Given the description of an element on the screen output the (x, y) to click on. 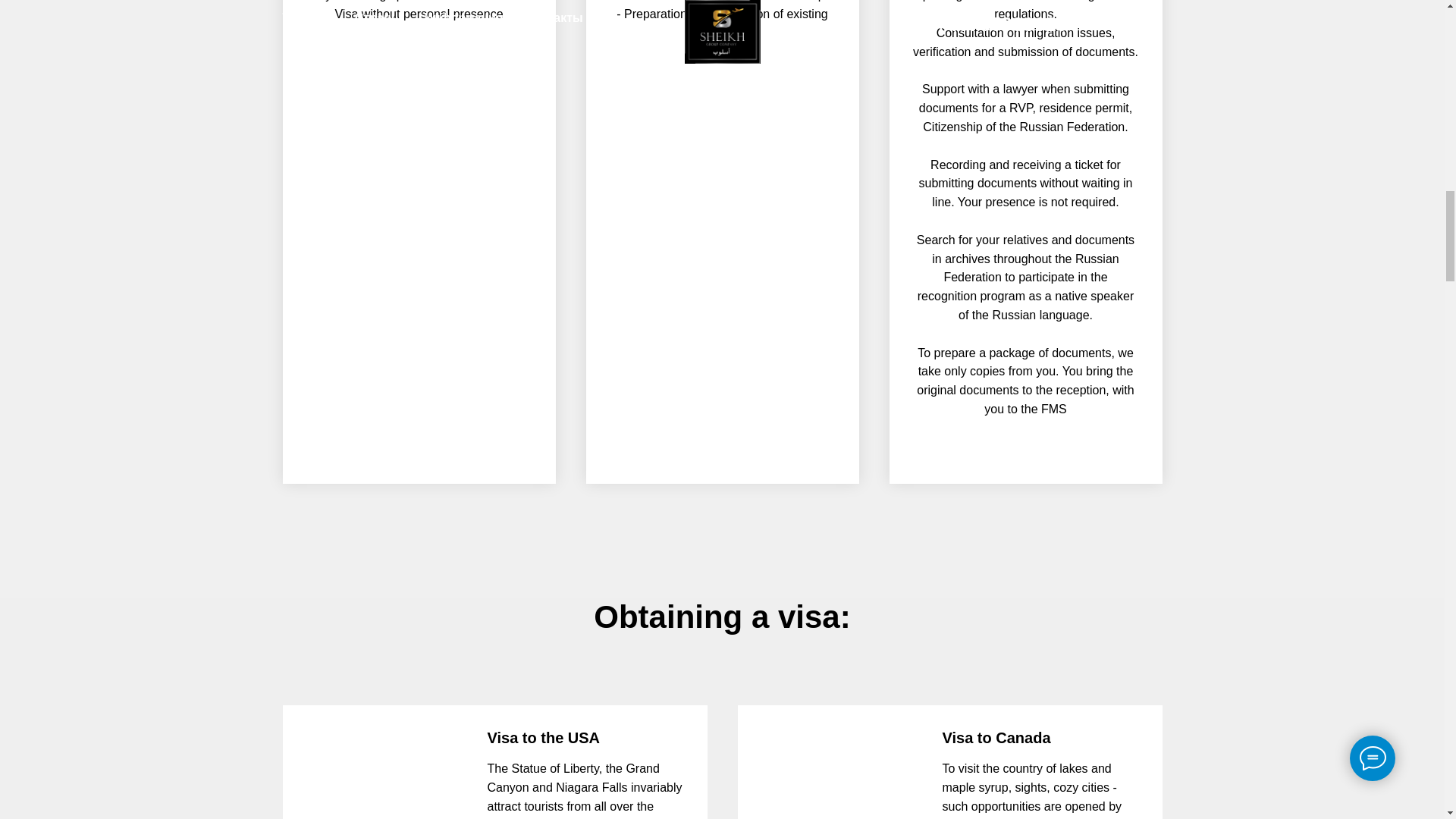
Visa to Canada (995, 737)
Visa to the USA (542, 737)
